Given the description of an element on the screen output the (x, y) to click on. 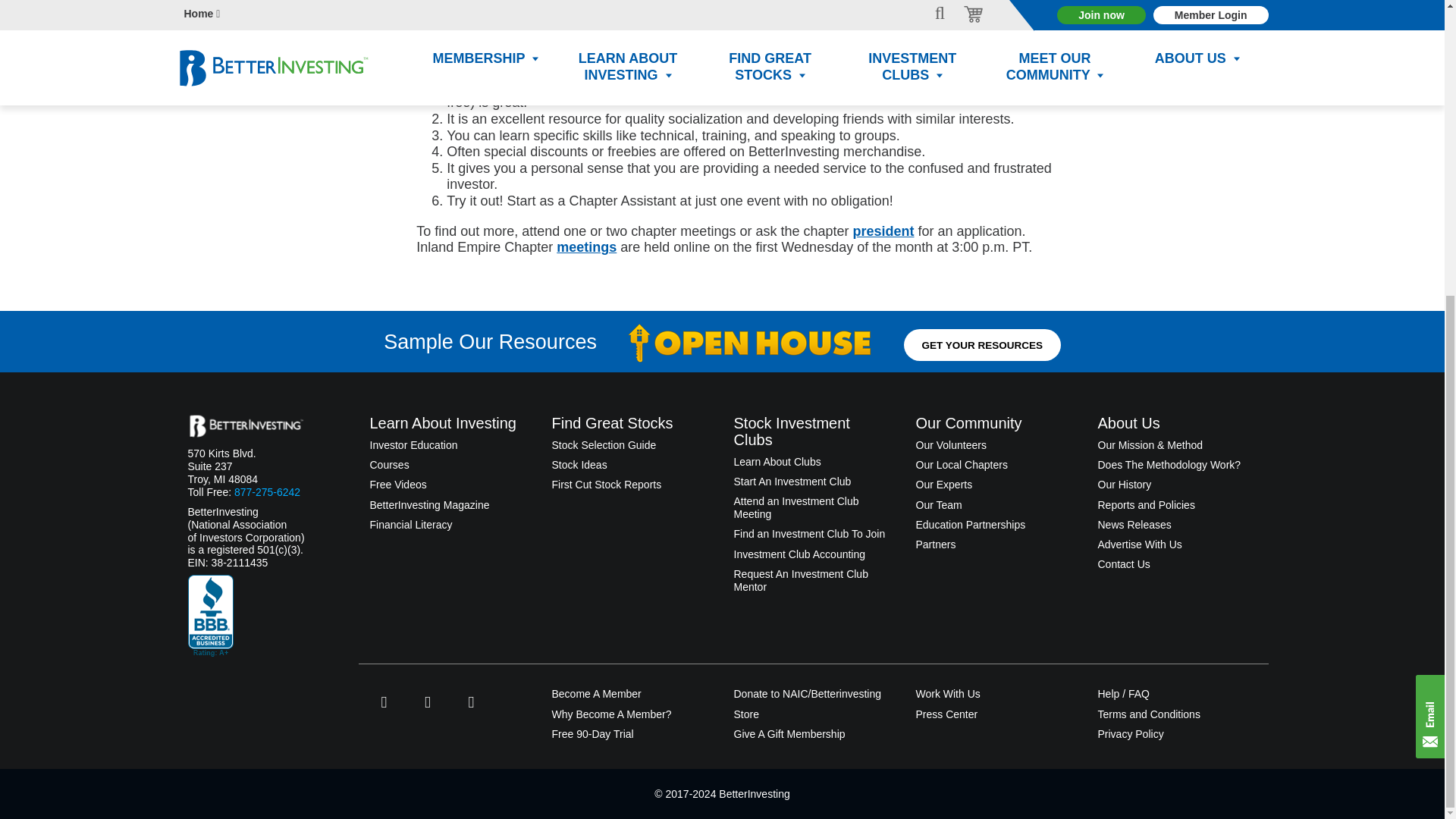
Instagram Link (427, 701)
LinkedIn Link (470, 701)
Facebook Link (383, 701)
